Given the description of an element on the screen output the (x, y) to click on. 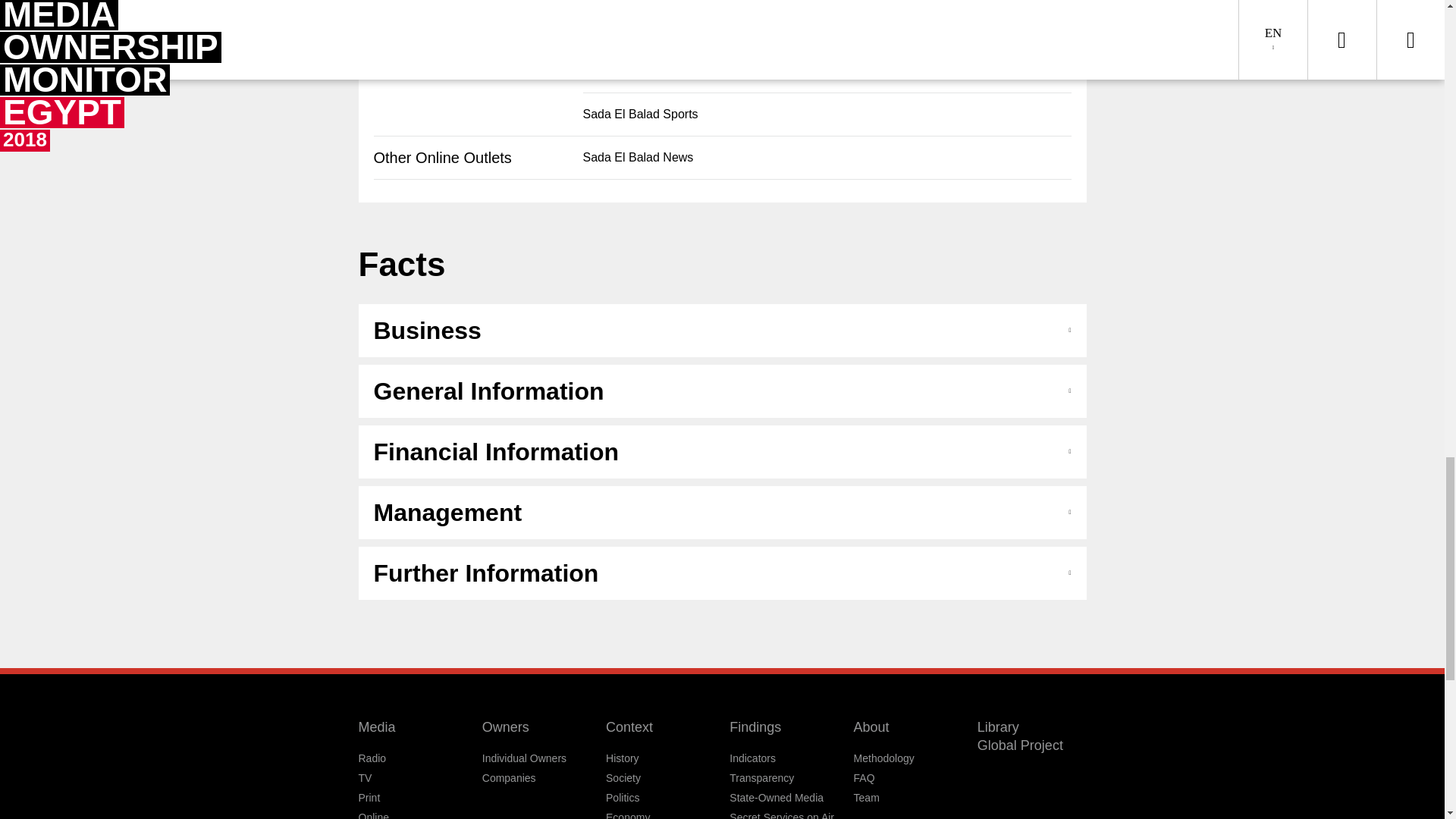
Politics (622, 797)
Companies (508, 777)
Print (369, 797)
History (622, 758)
Individual Owners (523, 758)
Media (376, 726)
Transparency (761, 777)
TV (364, 777)
Society (622, 777)
Online (373, 815)
Radio (371, 758)
Economy (627, 815)
Indicators (752, 758)
Findings (754, 726)
Owners (505, 726)
